Given the description of an element on the screen output the (x, y) to click on. 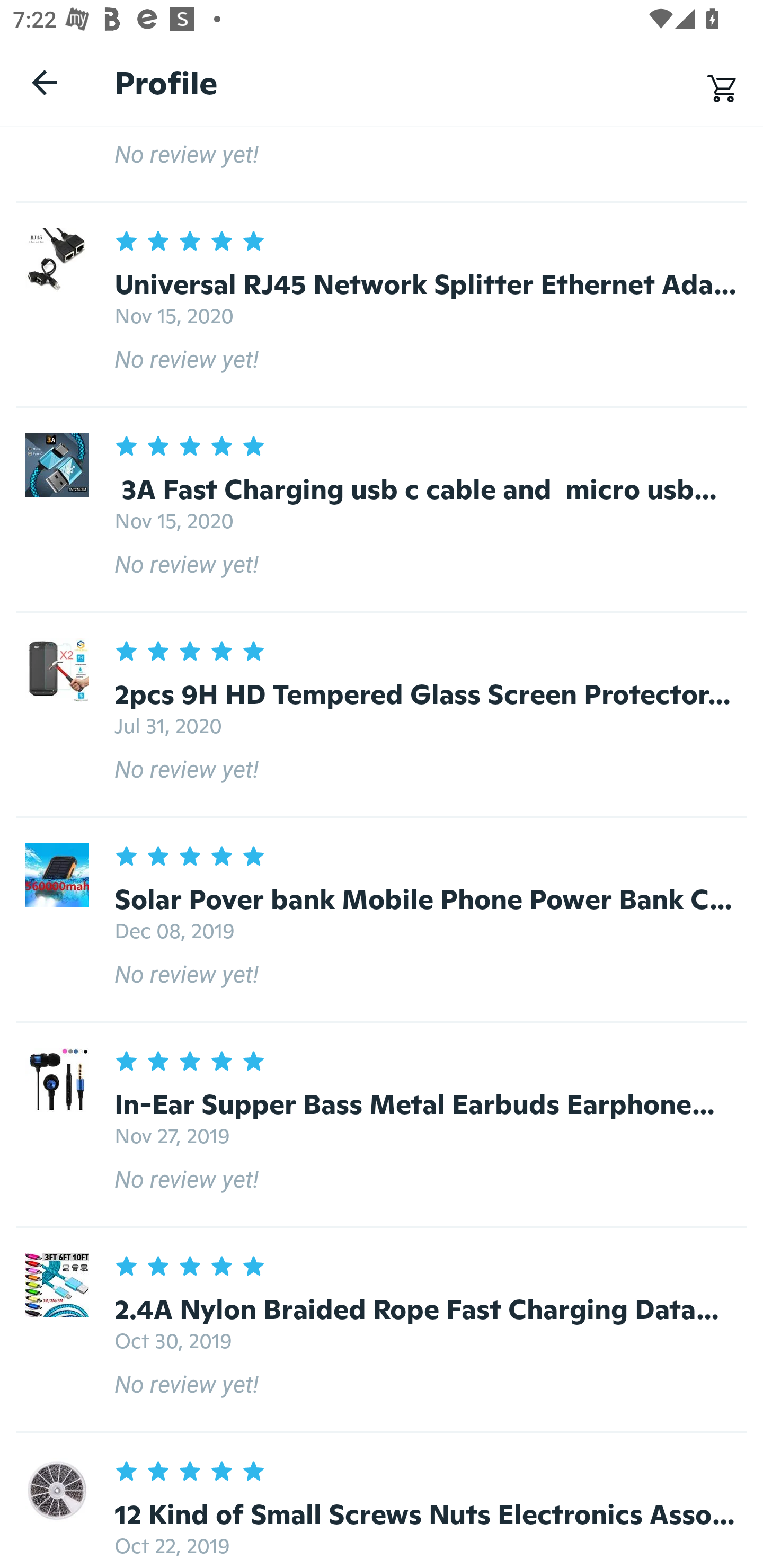
Navigate up (44, 82)
No review yet! (381, 164)
